Given the description of an element on the screen output the (x, y) to click on. 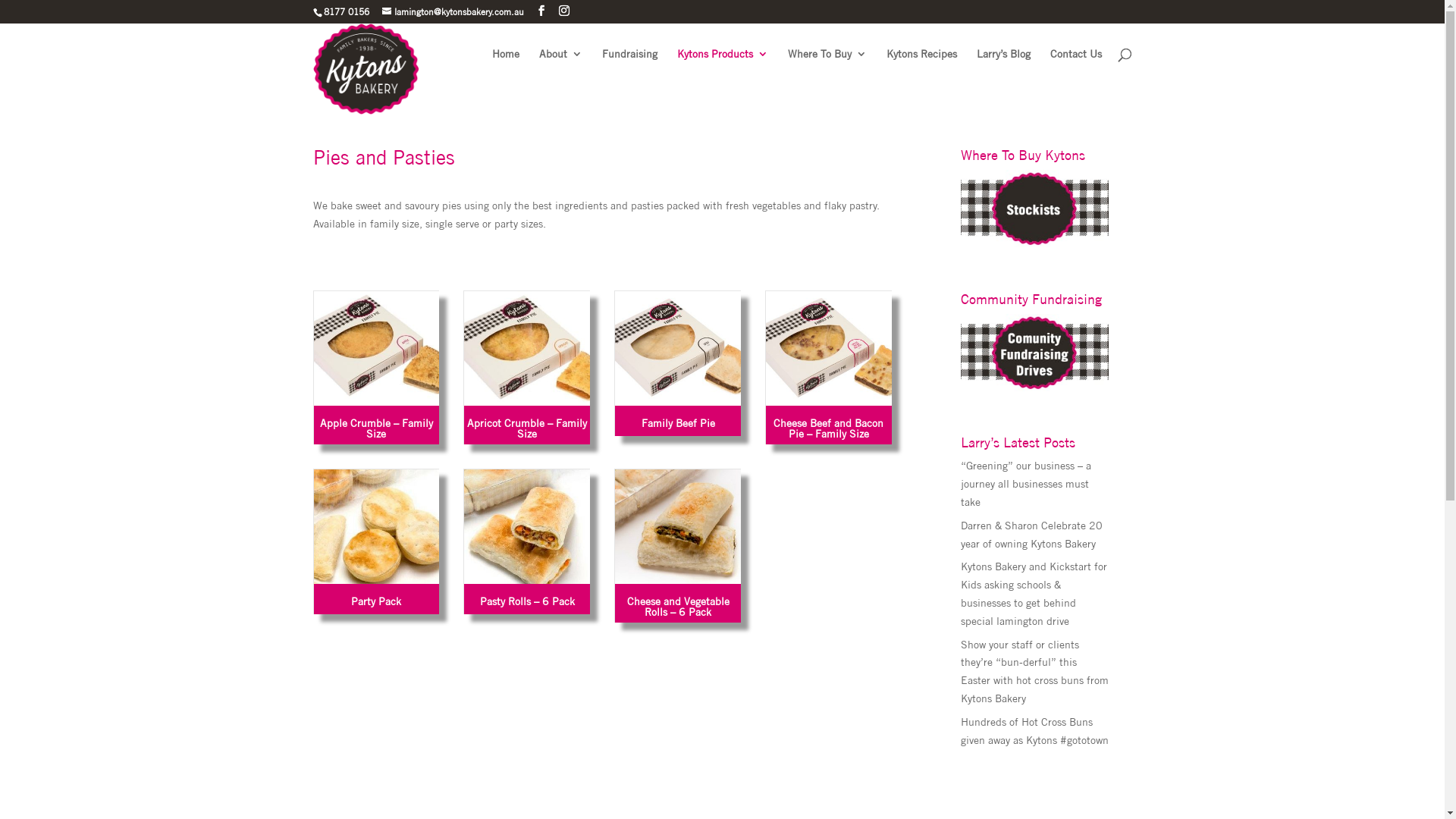
Fundraising Element type: text (629, 66)
lamington@kytonsbakery.com.au Element type: text (453, 11)
Contact Us Element type: text (1075, 66)
About Element type: text (559, 66)
Where To Buy Element type: text (826, 66)
Kytons Products Element type: text (721, 66)
Party Pack Element type: text (376, 540)
Kytons Recipes Element type: text (920, 66)
Darren & Sharon Celebrate 20 year of owning Kytons Bakery Element type: text (1031, 534)
Family Beef Pie Element type: text (677, 362)
Hundreds of Hot Cross Buns given away as Kytons #gototown Element type: text (1034, 730)
Home Element type: text (504, 66)
